Given the description of an element on the screen output the (x, y) to click on. 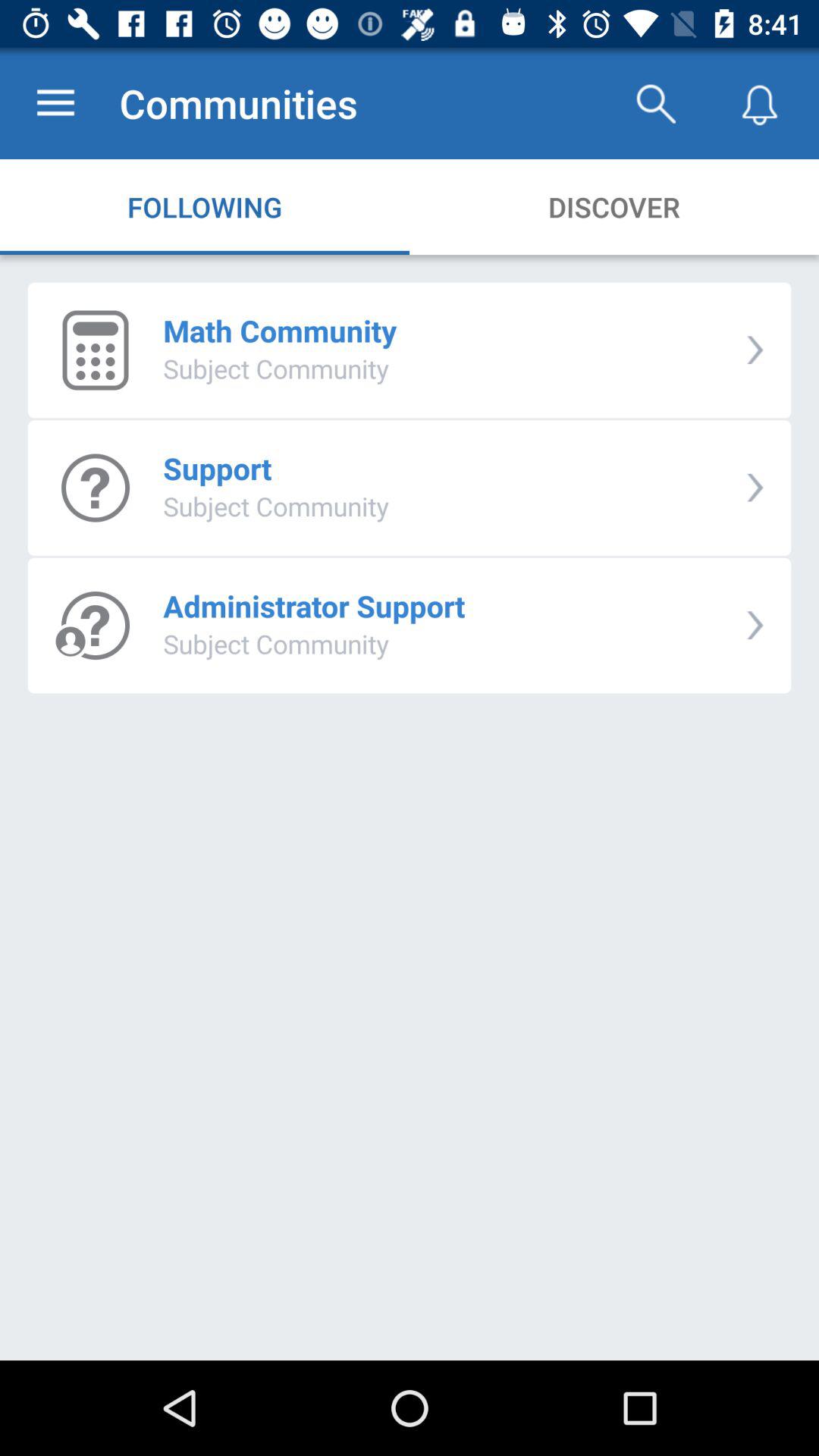
select icon to the right of administrator support item (755, 625)
